Given the description of an element on the screen output the (x, y) to click on. 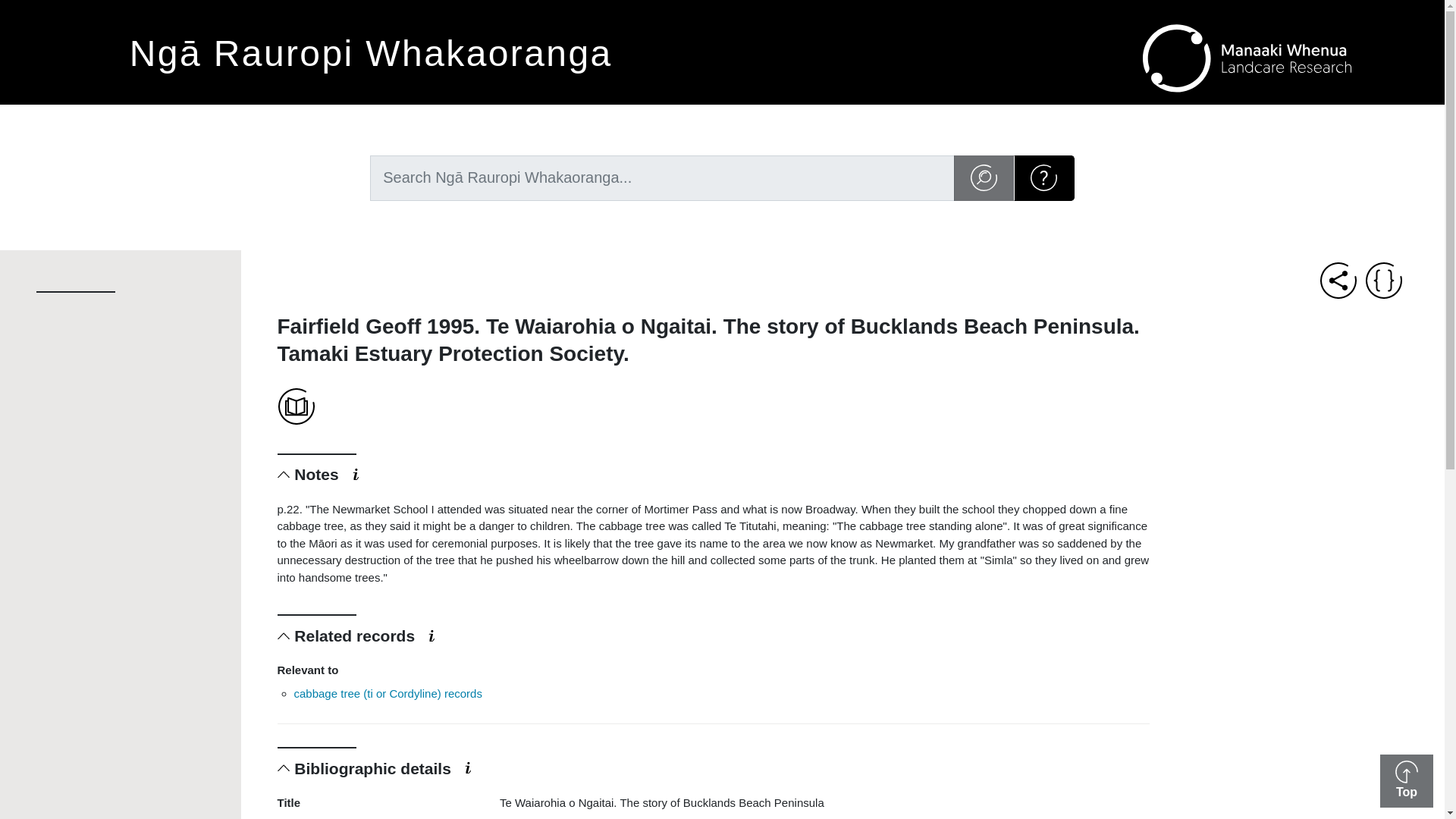
Search (983, 177)
Cite this record (1383, 280)
Click to collapse (283, 473)
Terms of use (297, 126)
Manaaki Whenua - Landcare Research (1246, 55)
Click for help (1043, 176)
Info (431, 634)
Info (467, 766)
Copy a link to this page (1338, 280)
Reference document (296, 406)
